Given the description of an element on the screen output the (x, y) to click on. 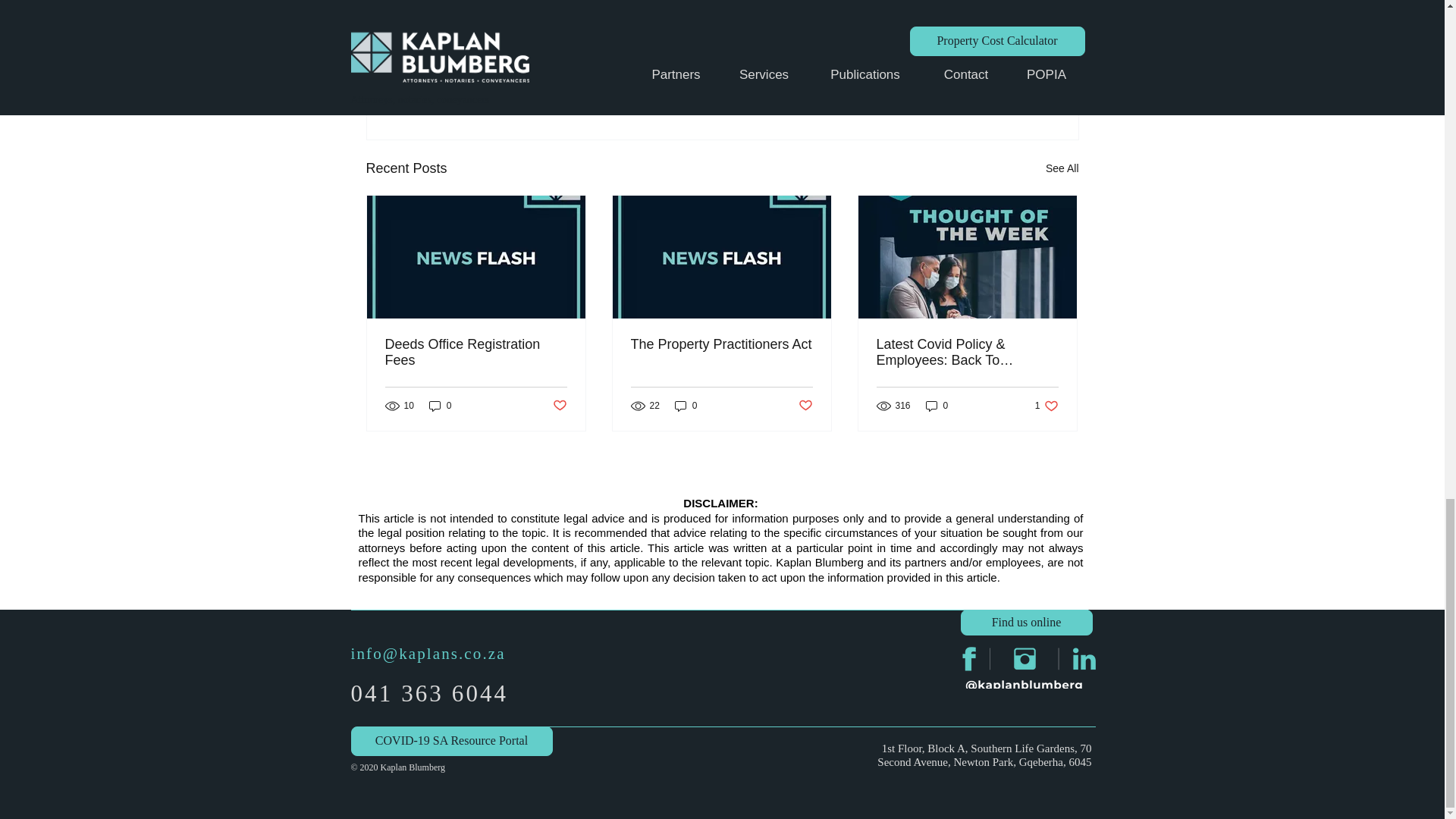
0 (440, 405)
COVID-19 (978, 40)
Deeds Office Registration Fees (476, 352)
Newsflash (912, 40)
0 (685, 405)
The Property Practitioners Act (721, 344)
See All (1061, 168)
Post not marked as liked (804, 405)
Post not marked as liked (995, 85)
Post not marked as liked (558, 405)
